Given the description of an element on the screen output the (x, y) to click on. 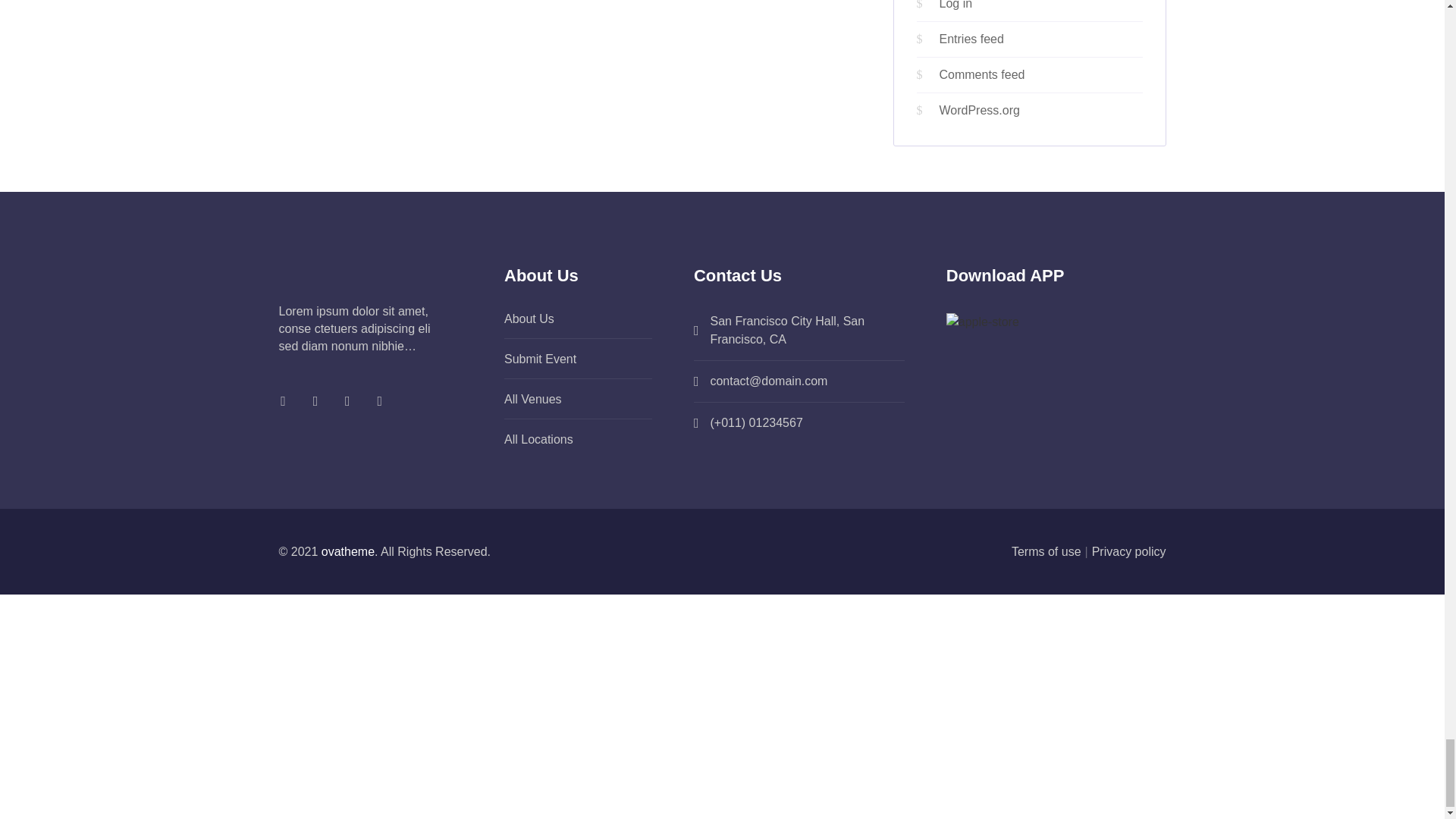
apple-store (982, 321)
